Given the description of an element on the screen output the (x, y) to click on. 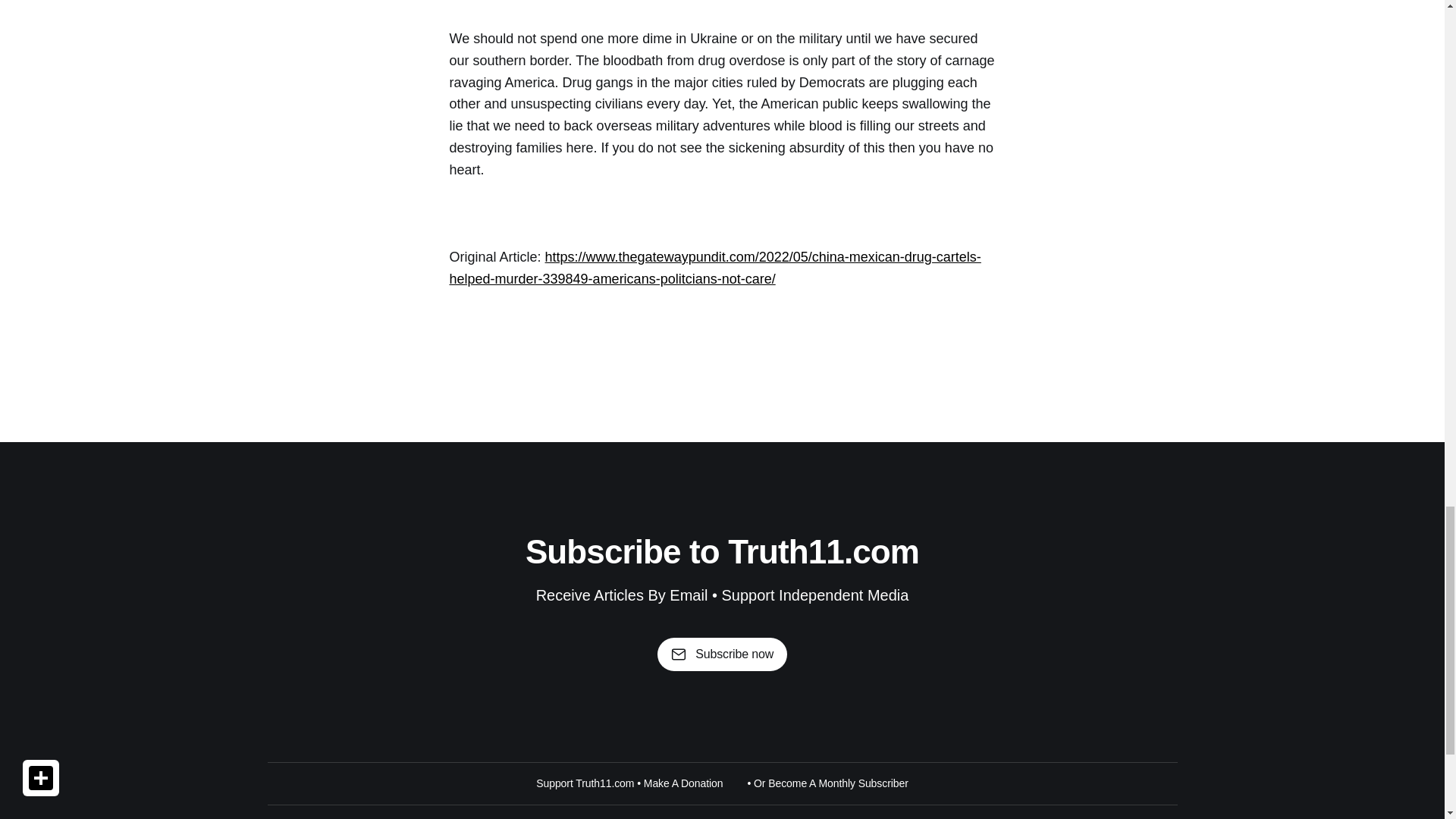
Subscribe now (722, 654)
